Given the description of an element on the screen output the (x, y) to click on. 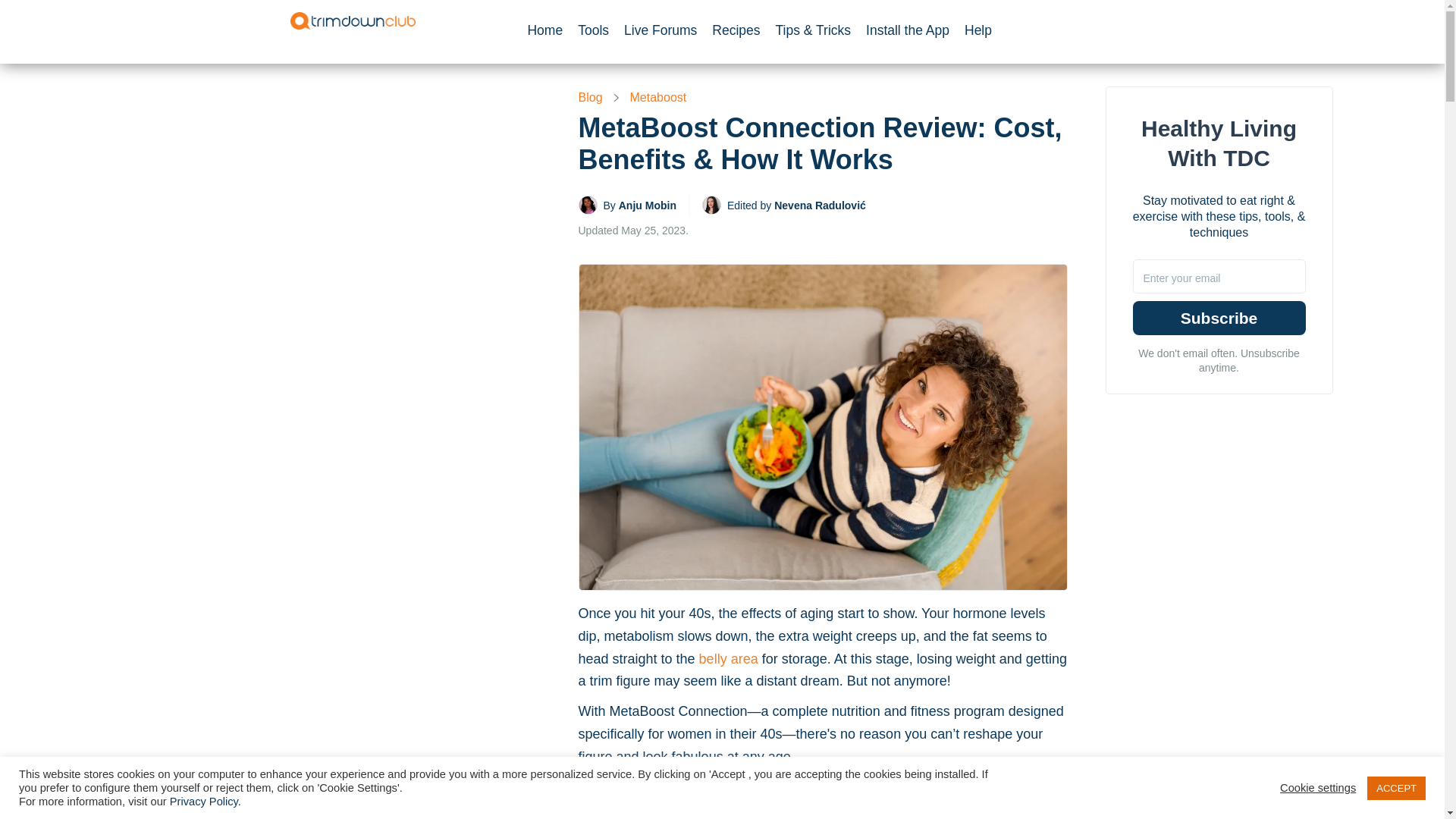
Tools (592, 30)
Home (548, 30)
Trim Down Club (351, 19)
Recipes (735, 30)
Live Forums (659, 30)
Install the App (907, 30)
Trim Down Club - Where YOU and weight loss friends meet! (351, 19)
